Given the description of an element on the screen output the (x, y) to click on. 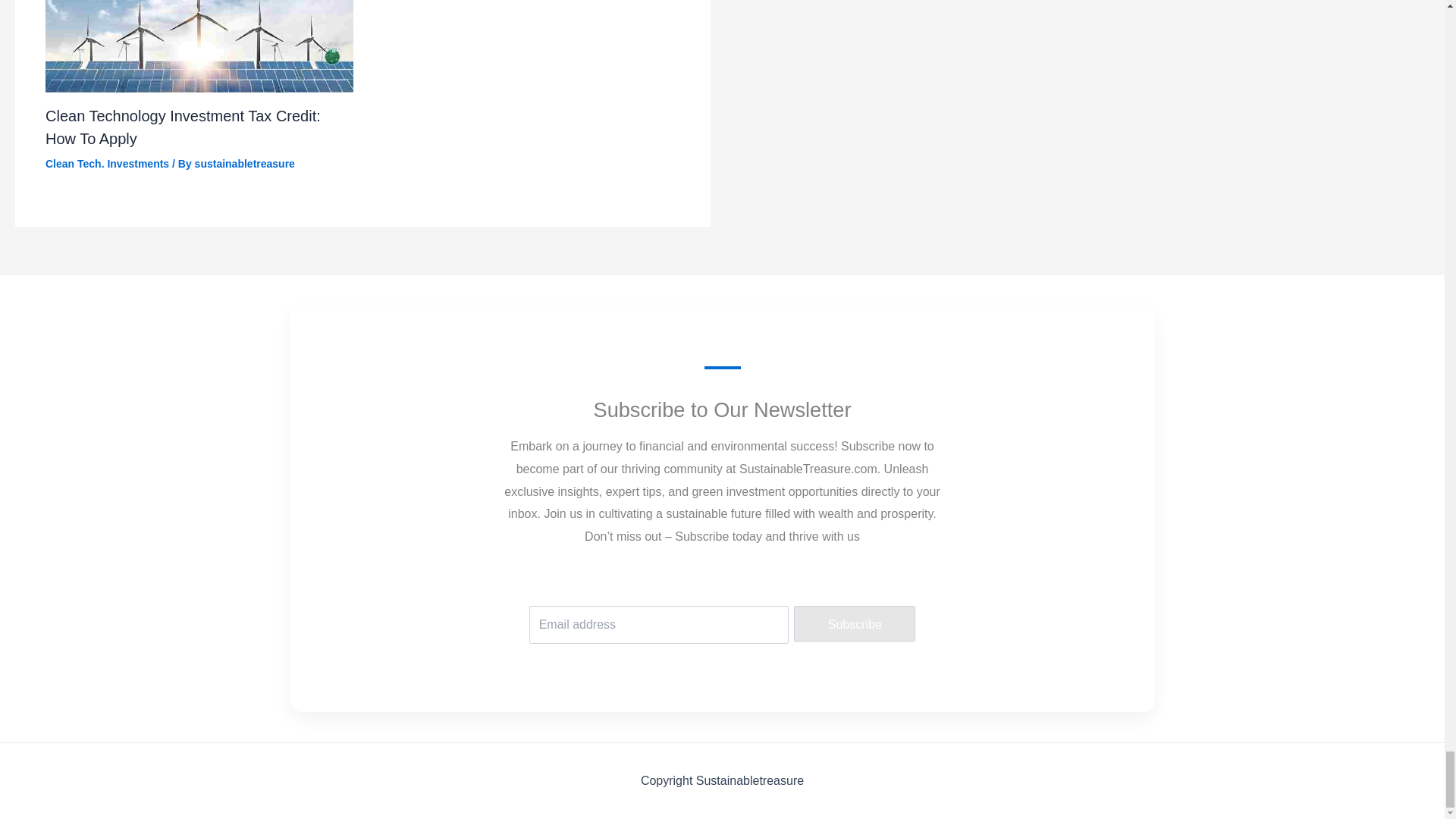
Clean Technology Investment Tax Credit: How To Apply (182, 127)
View all posts by sustainabletreasure (245, 163)
Clean Tech. Investments (106, 163)
